Given the description of an element on the screen output the (x, y) to click on. 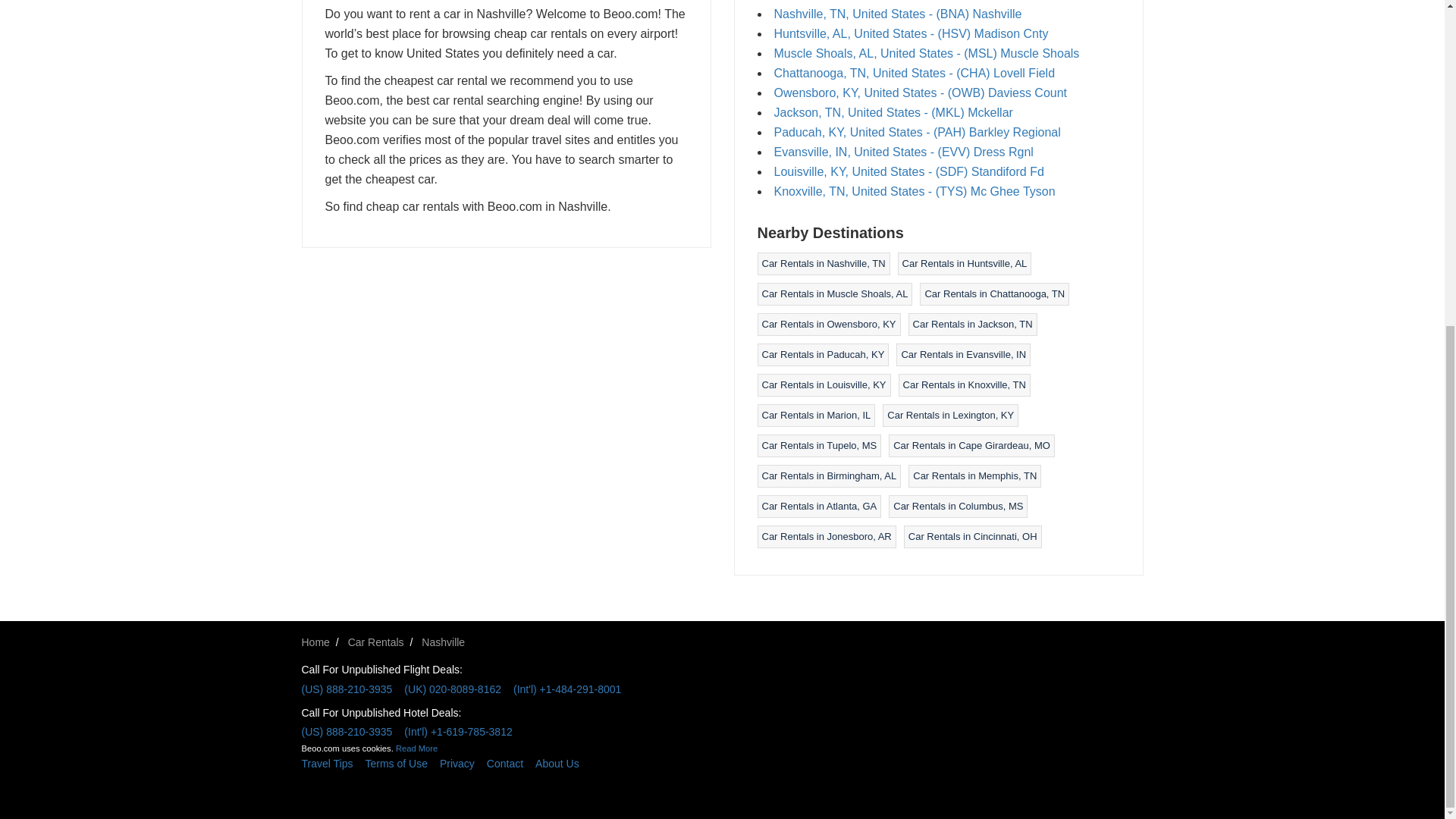
Car Rentals in Atlanta, GA (818, 505)
Car Rentals in Jonesboro, AR (826, 536)
Car Rentals (375, 642)
Car Rentals in Lexington, KY (949, 414)
Car Rentals in Louisville, KY (823, 384)
Car Rentals in Columbus, MS (958, 505)
Car Rentals in Evansville, IN (963, 354)
Car Rentals in Birmingham, AL (828, 475)
Car Rentals in Memphis, TN (974, 475)
Car Rentals in Cape Girardeau, MO (971, 445)
